Given the description of an element on the screen output the (x, y) to click on. 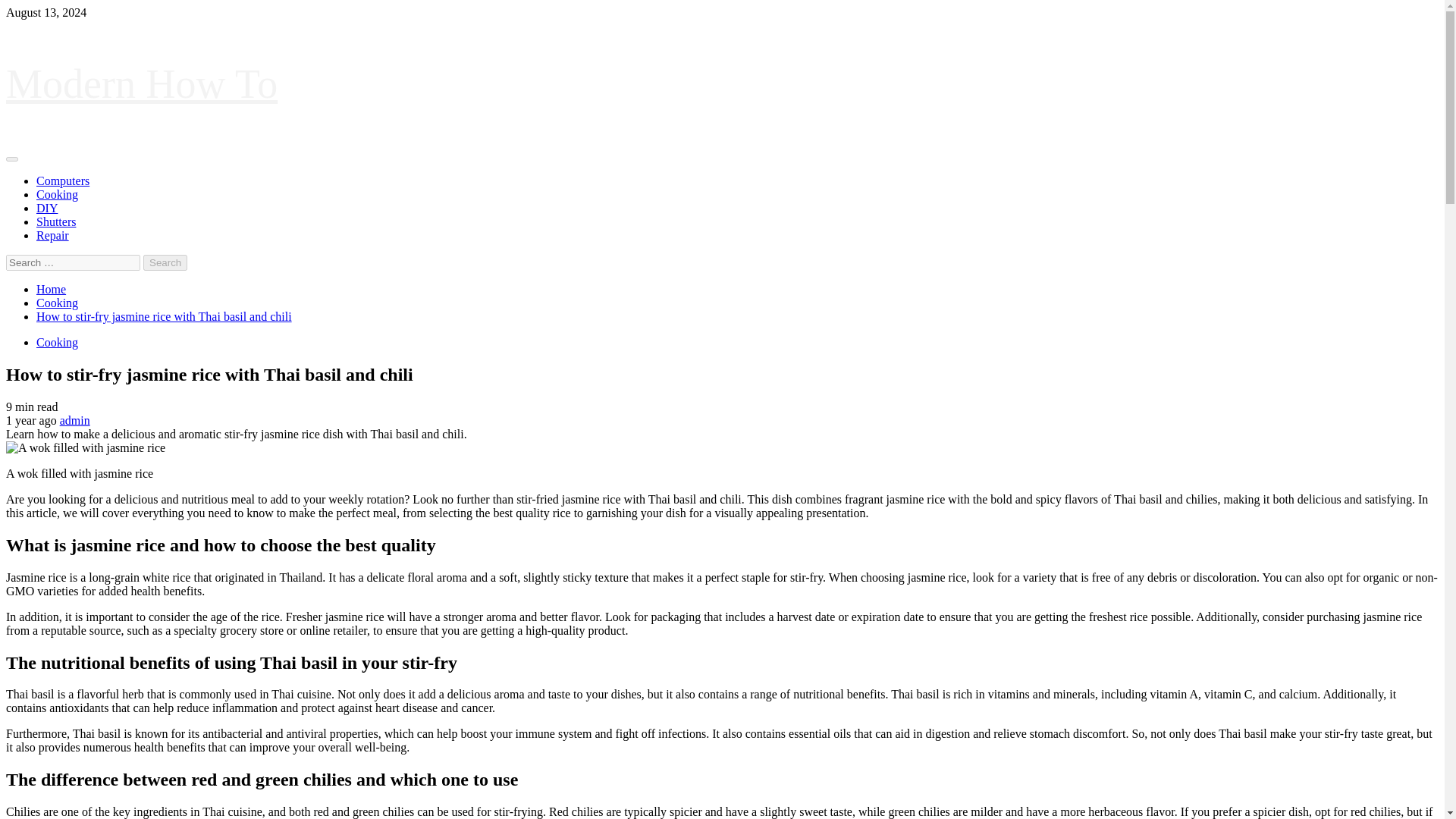
Search (164, 262)
DIY (47, 207)
Primary Menu (11, 159)
Cooking (57, 341)
Home (50, 288)
Cooking (57, 194)
Modern How To (141, 84)
Search (164, 262)
admin (74, 420)
How to stir-fry jasmine rice with Thai basil and chili (164, 316)
